Given the description of an element on the screen output the (x, y) to click on. 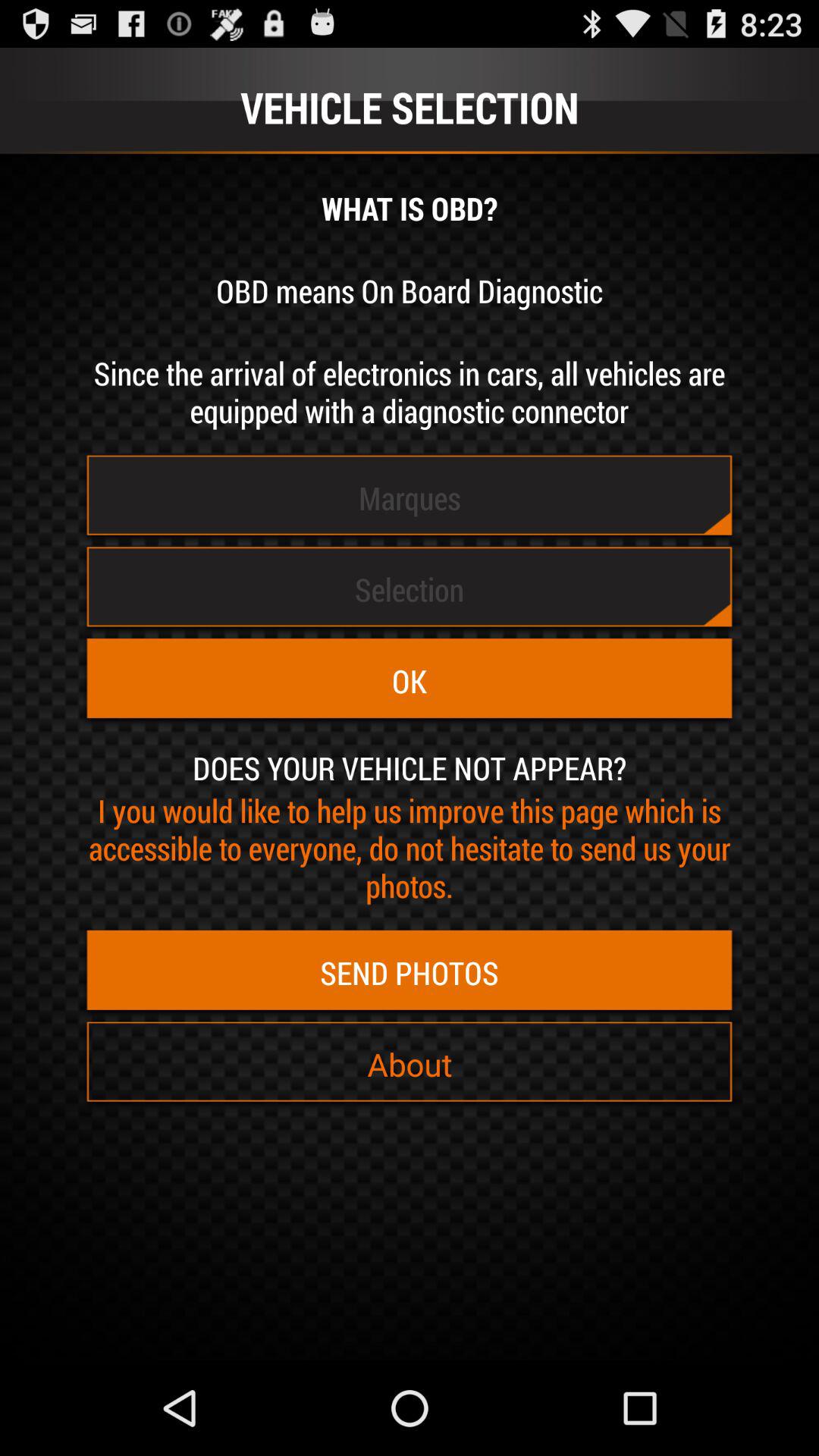
choose the ok icon (409, 680)
